Given the description of an element on the screen output the (x, y) to click on. 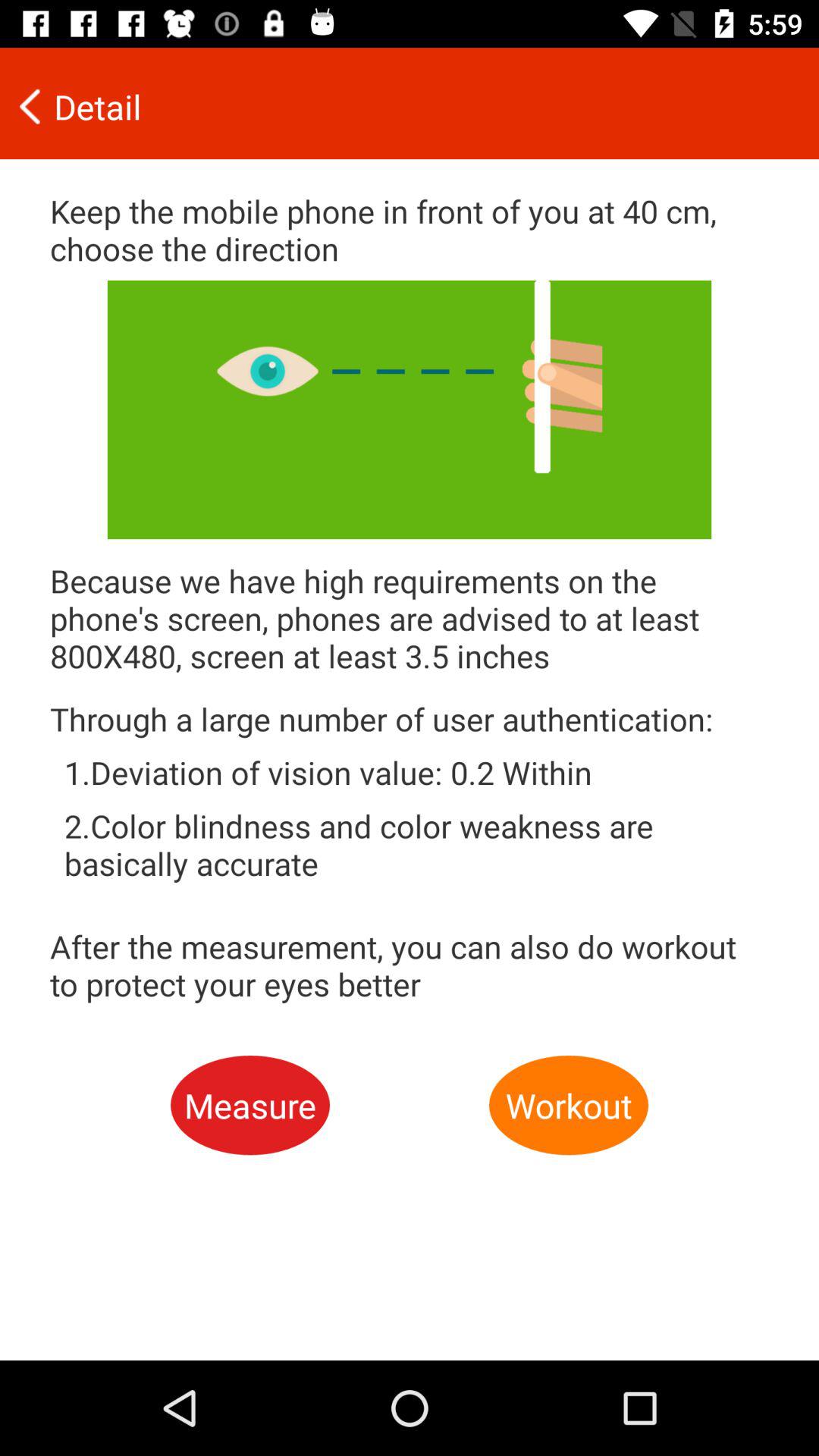
scroll until measure icon (249, 1105)
